Given the description of an element on the screen output the (x, y) to click on. 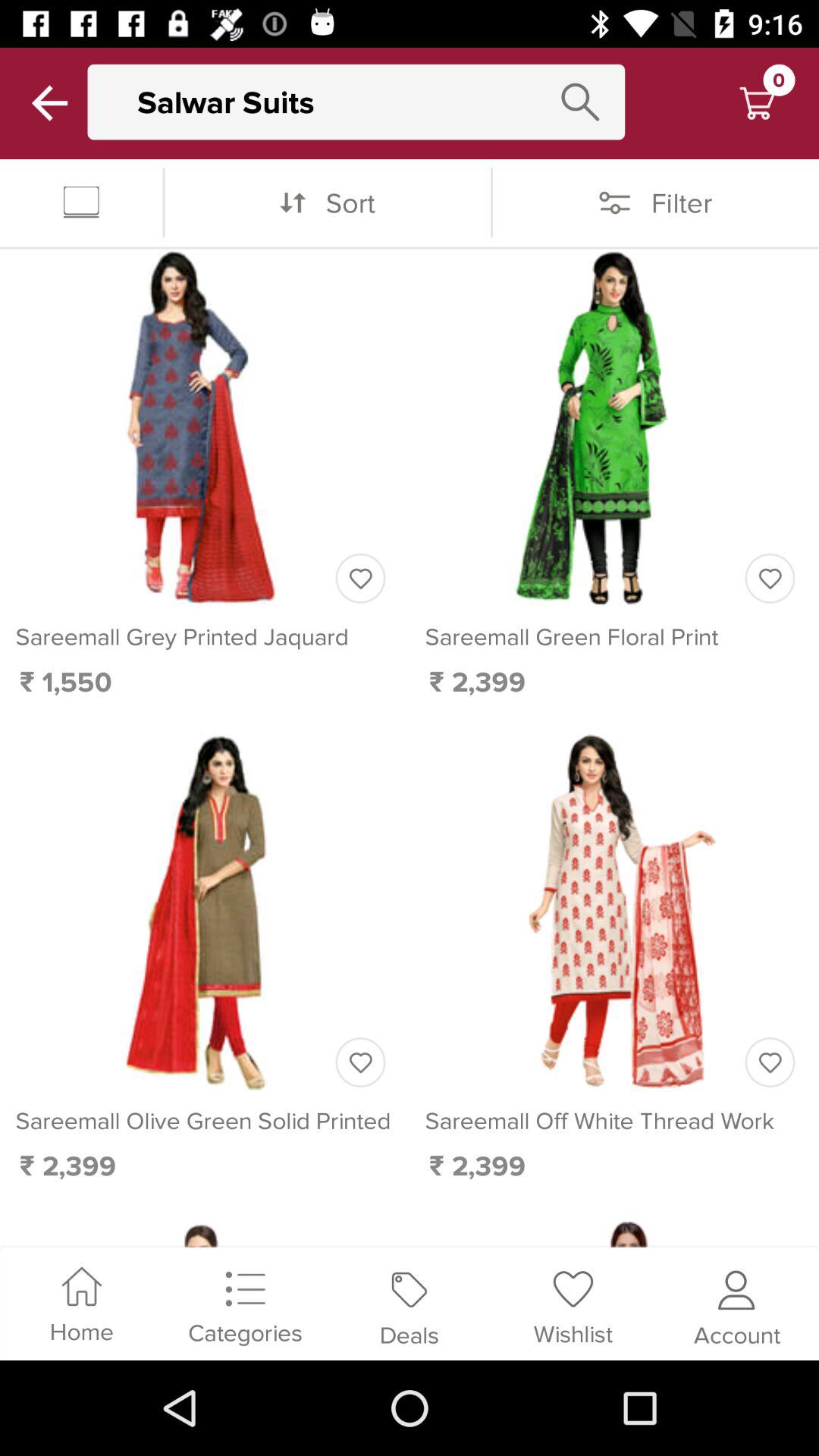
back a page (49, 103)
